Given the description of an element on the screen output the (x, y) to click on. 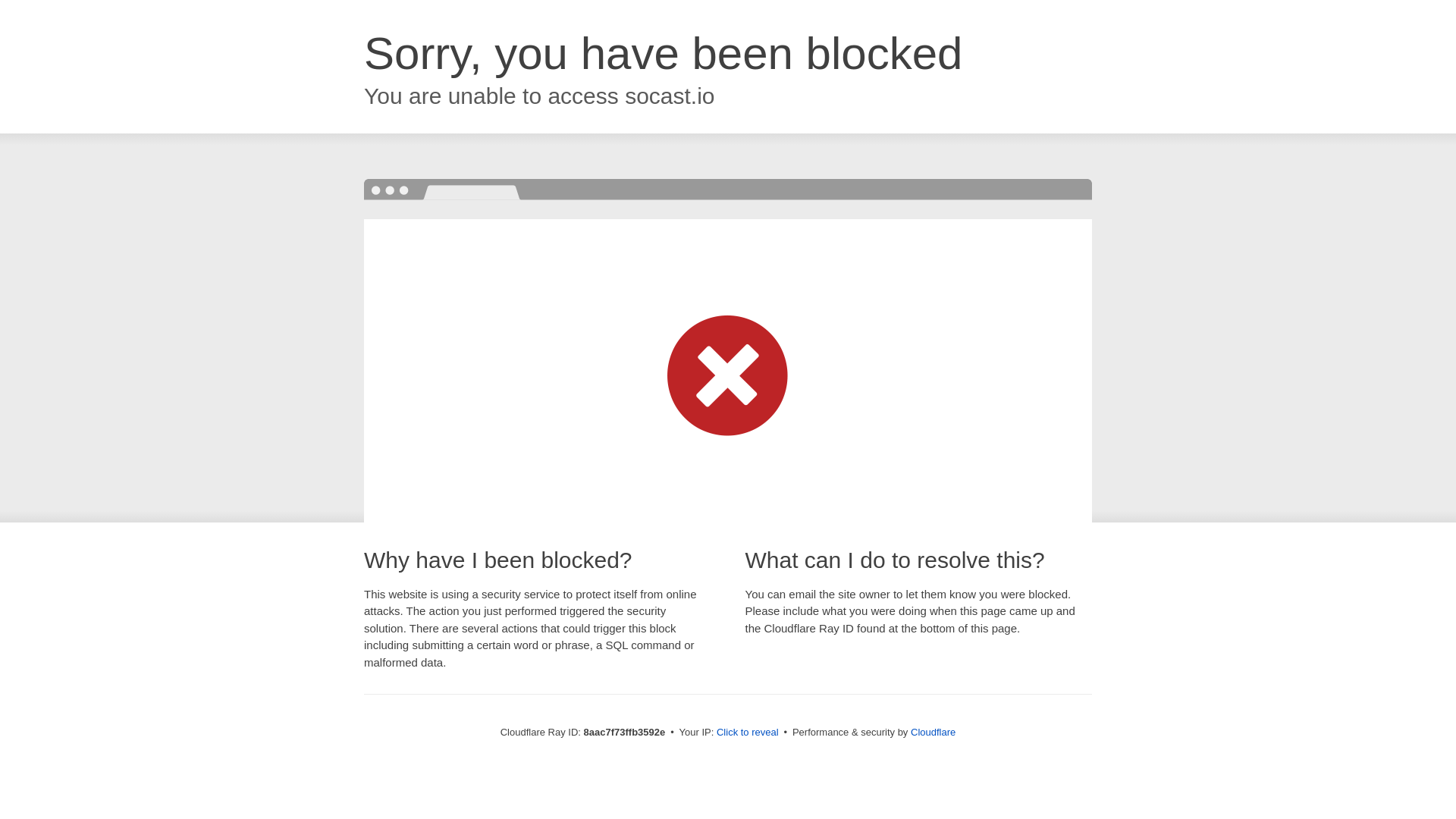
Click to reveal (747, 732)
Cloudflare (933, 731)
